Given the description of an element on the screen output the (x, y) to click on. 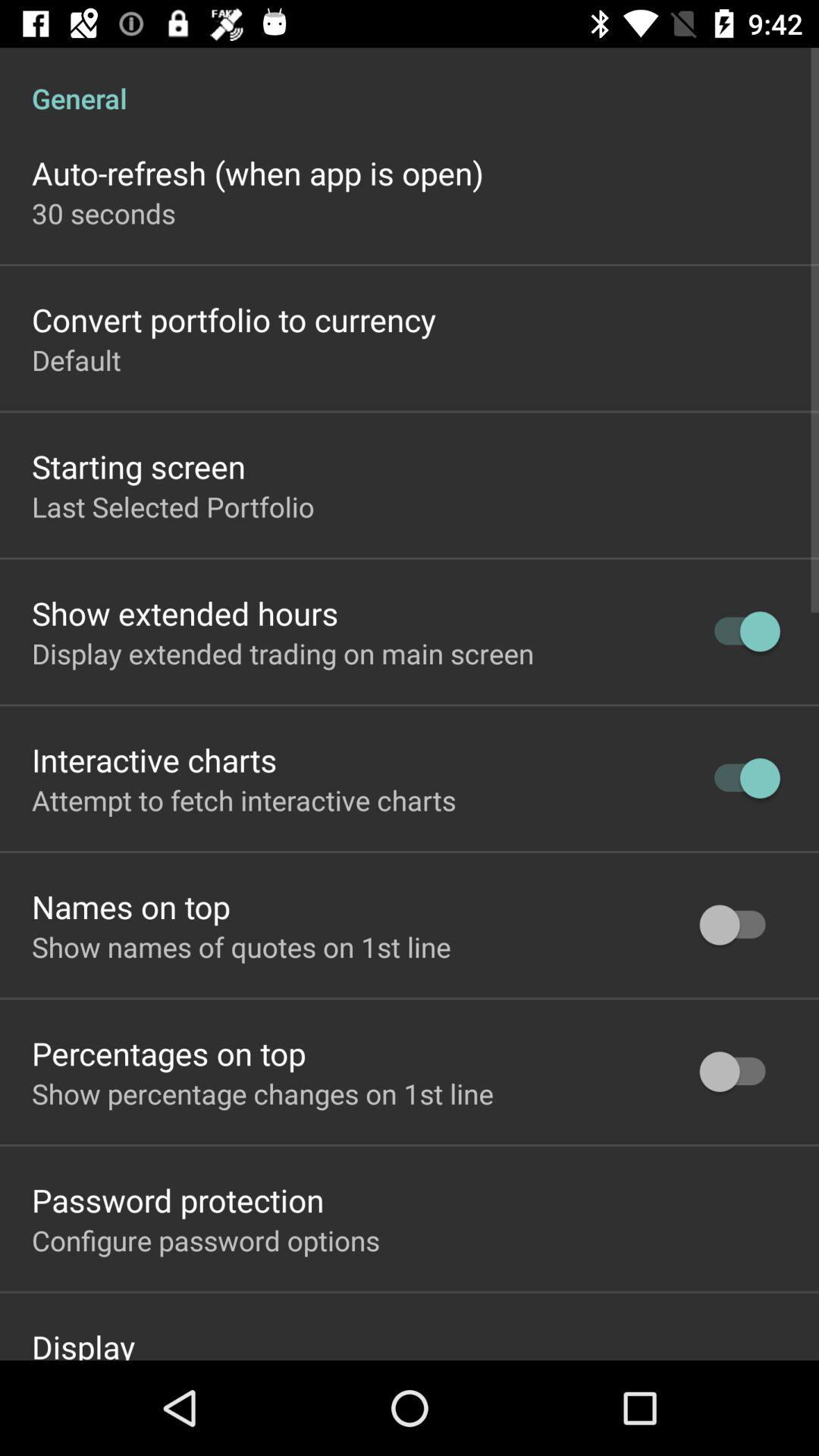
open the item above the show percentage changes (168, 1052)
